Given the description of an element on the screen output the (x, y) to click on. 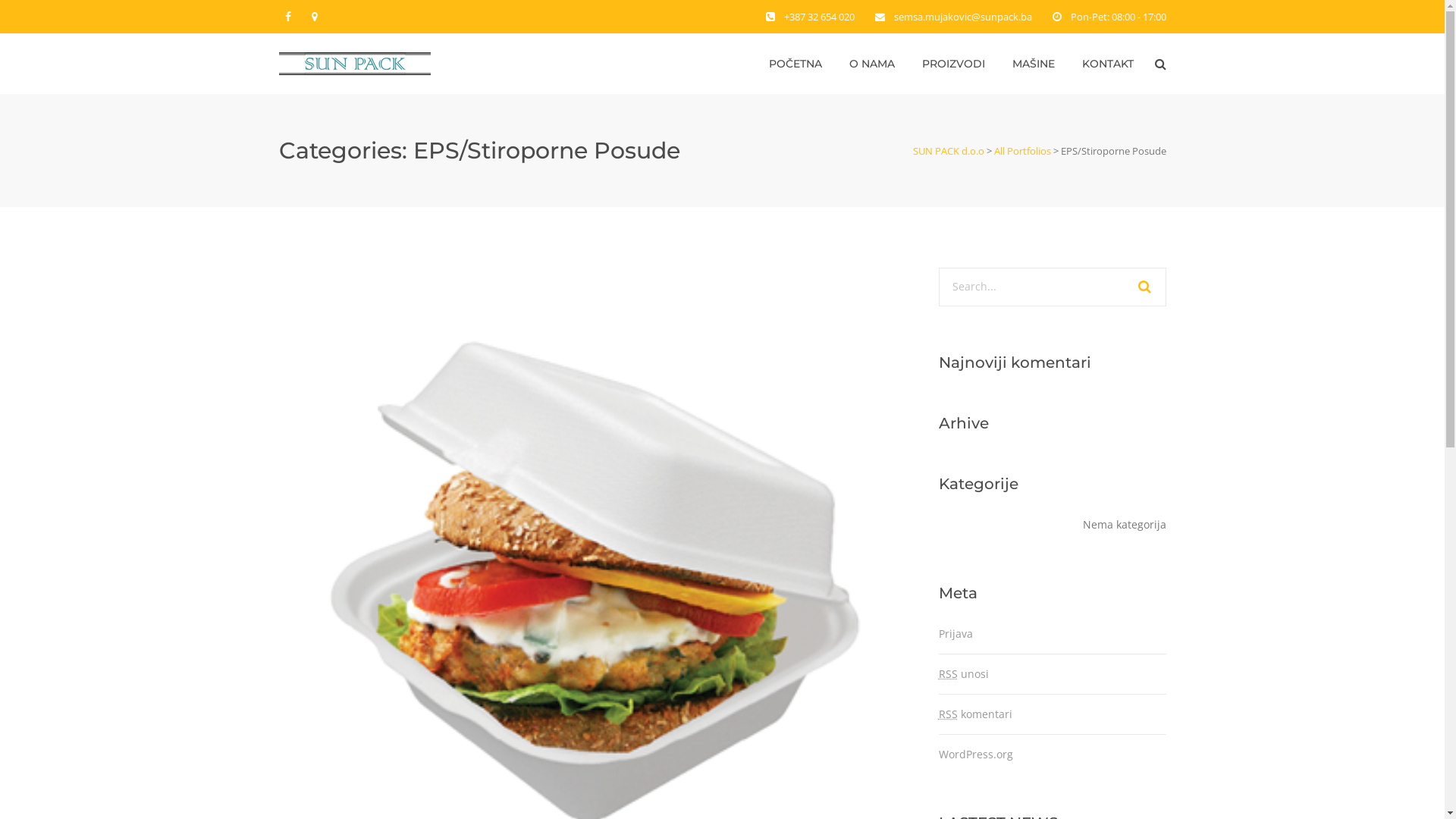
WordPress.org Element type: text (975, 753)
PROIZVODI Element type: text (953, 63)
SUN PACK d.o.o Element type: text (948, 150)
All Portfolios Element type: text (1021, 150)
Prijava Element type: text (955, 633)
RSS komentari Element type: text (975, 713)
RSS unosi Element type: text (963, 673)
O NAMA Element type: text (871, 63)
KONTAKT Element type: text (1106, 63)
EPS/Stiroporne Posude Element type: hover (593, 581)
